Given the description of an element on the screen output the (x, y) to click on. 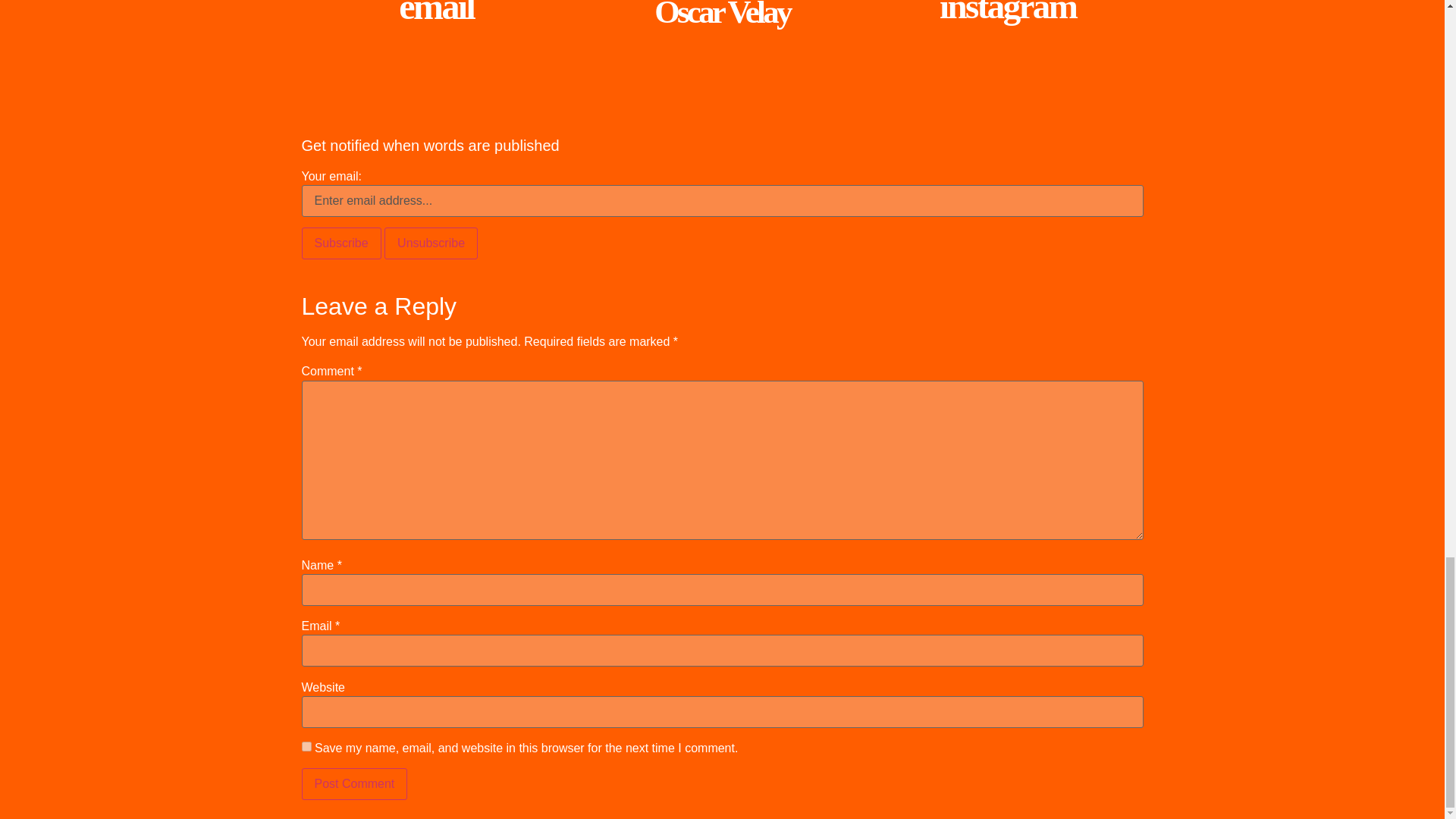
Enter email address... (721, 201)
Post Comment (354, 784)
Subscribe (341, 243)
instagram (1007, 12)
Subscribe (341, 243)
Unsubscribe (430, 243)
Unsubscribe (430, 243)
yes (306, 746)
Post Comment (354, 784)
email (436, 13)
